Given the description of an element on the screen output the (x, y) to click on. 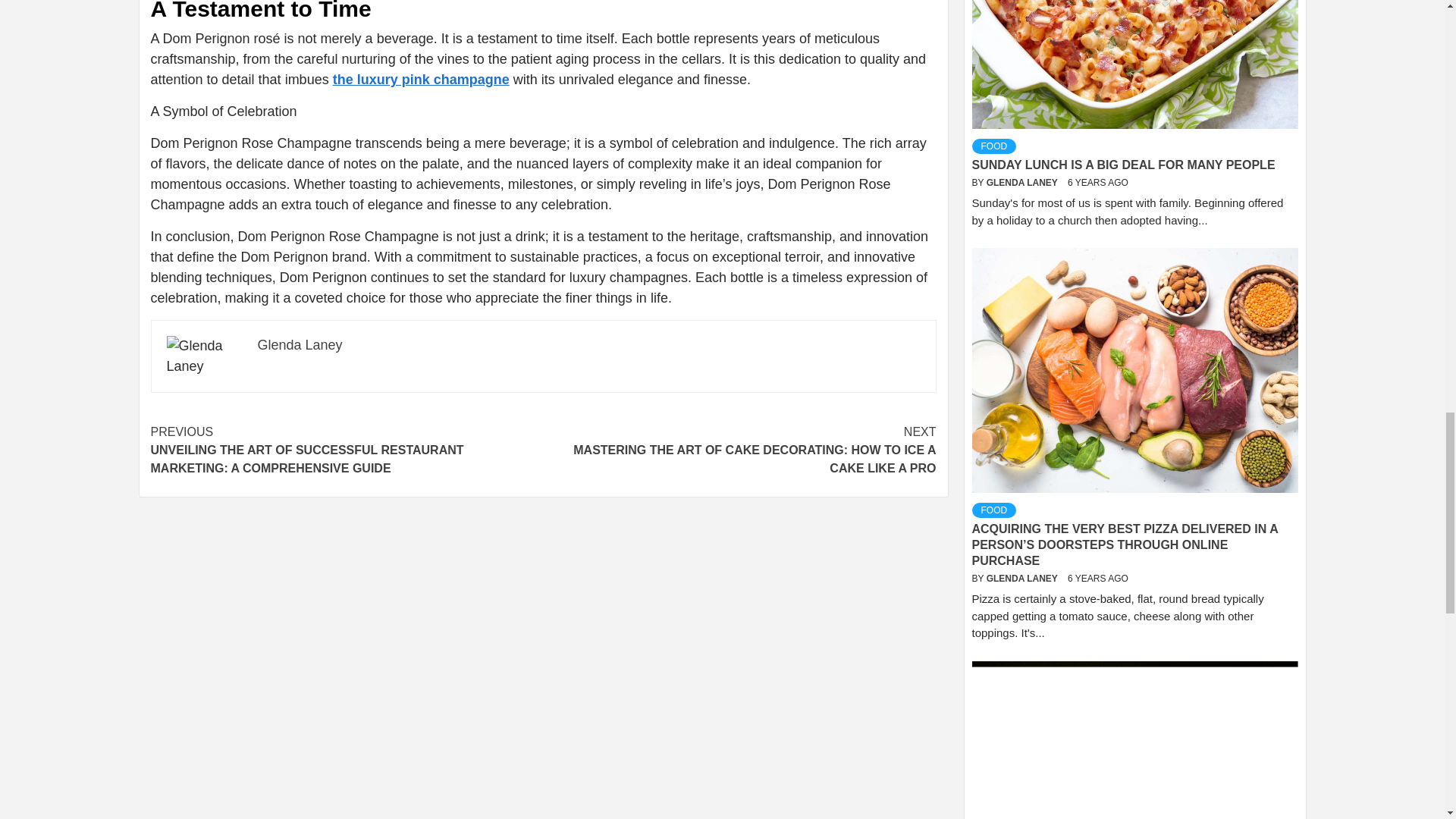
Glenda Laney (299, 344)
the luxury pink champagne (421, 79)
